Given the description of an element on the screen output the (x, y) to click on. 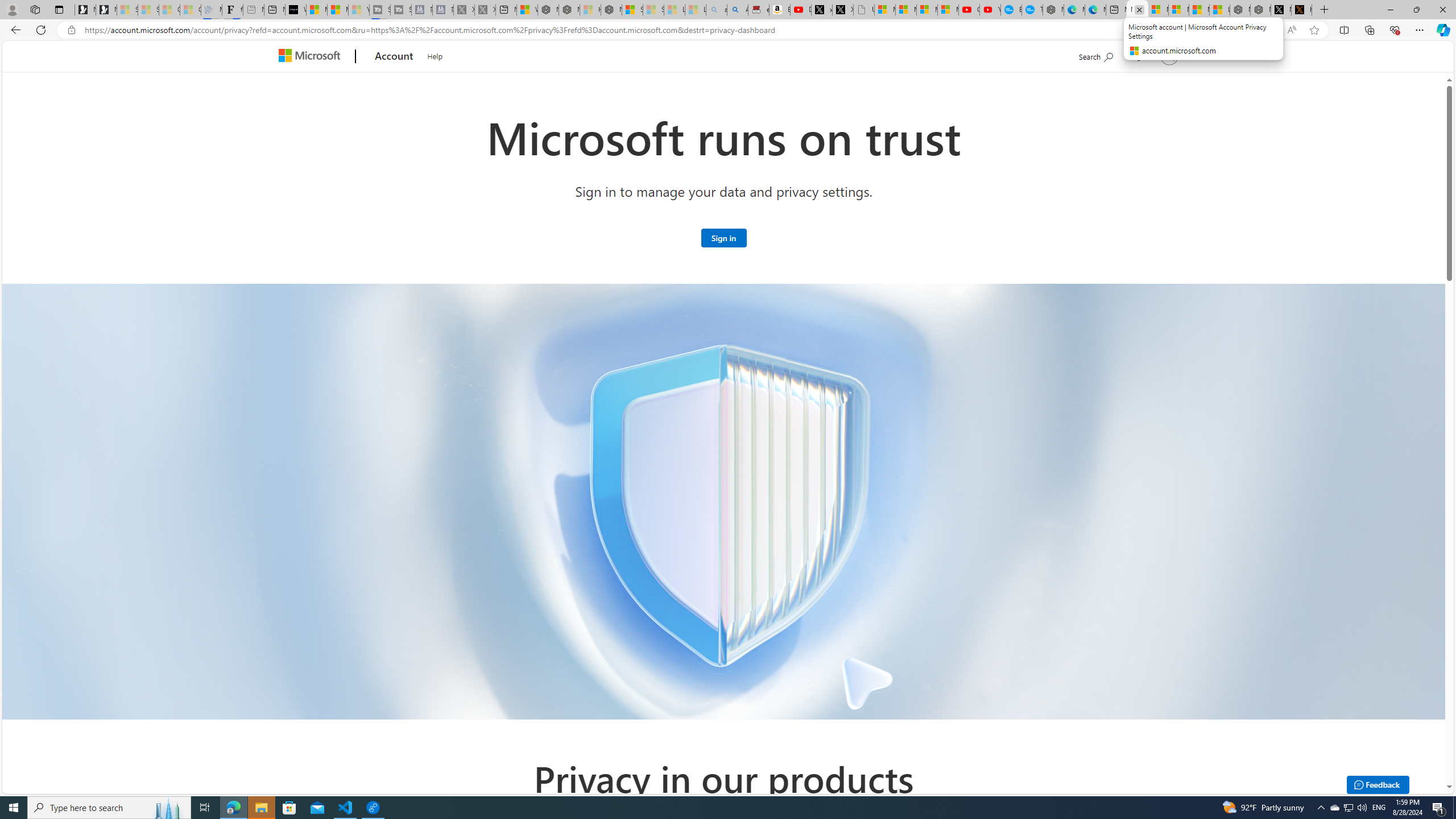
Settings and more (Alt+F) (1419, 29)
Untitled (863, 9)
Nordace (@NordaceOfficial) / X (1280, 9)
Close (1442, 9)
App bar (728, 29)
Back (13, 29)
Restore (1416, 9)
X (842, 9)
Sign in to your Microsoft account (723, 237)
Microsoft account | Microsoft Account Privacy Settings (1137, 9)
